Given the description of an element on the screen output the (x, y) to click on. 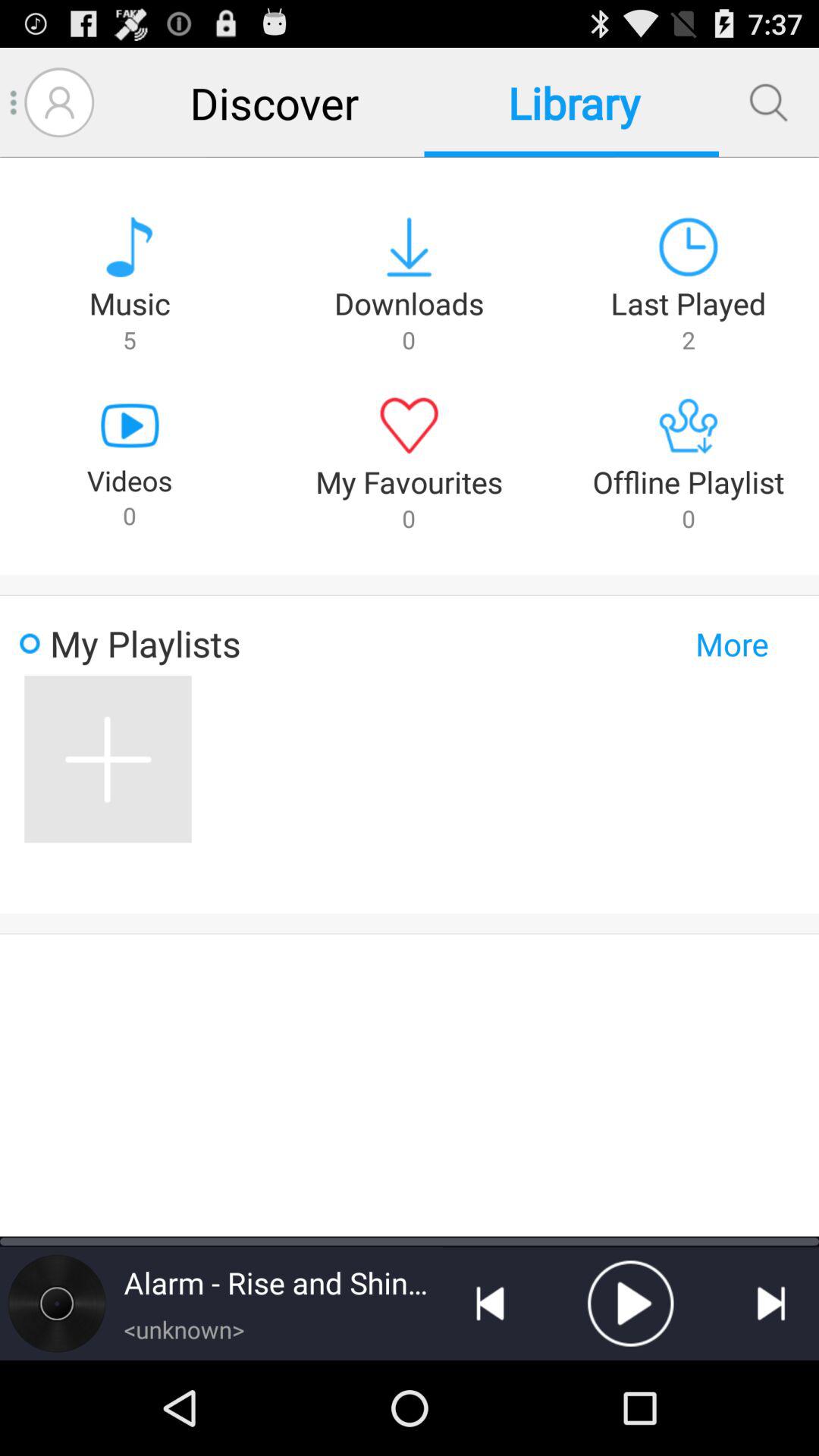
next song (771, 1303)
